Given the description of an element on the screen output the (x, y) to click on. 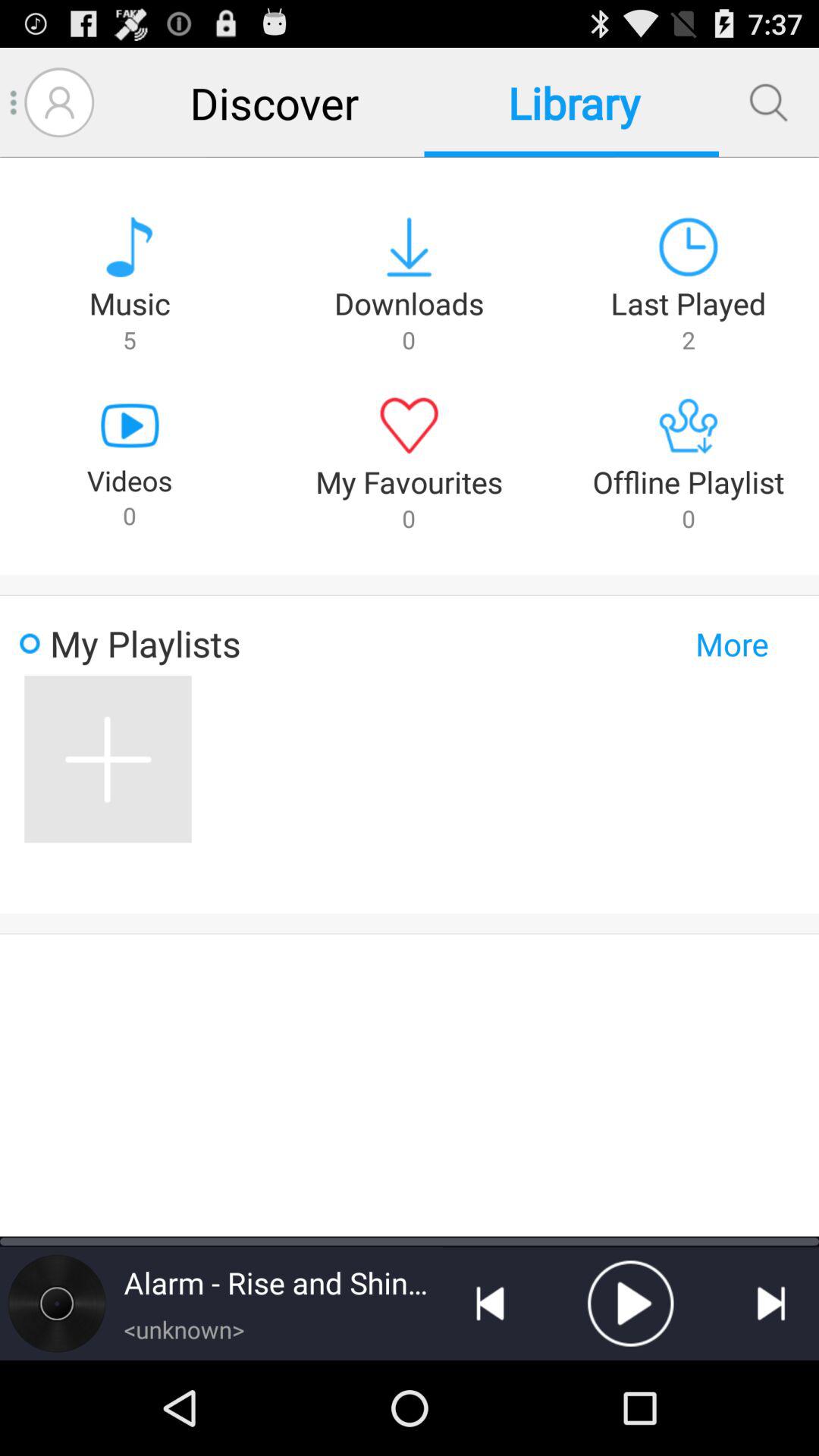
next song (771, 1303)
